Given the description of an element on the screen output the (x, y) to click on. 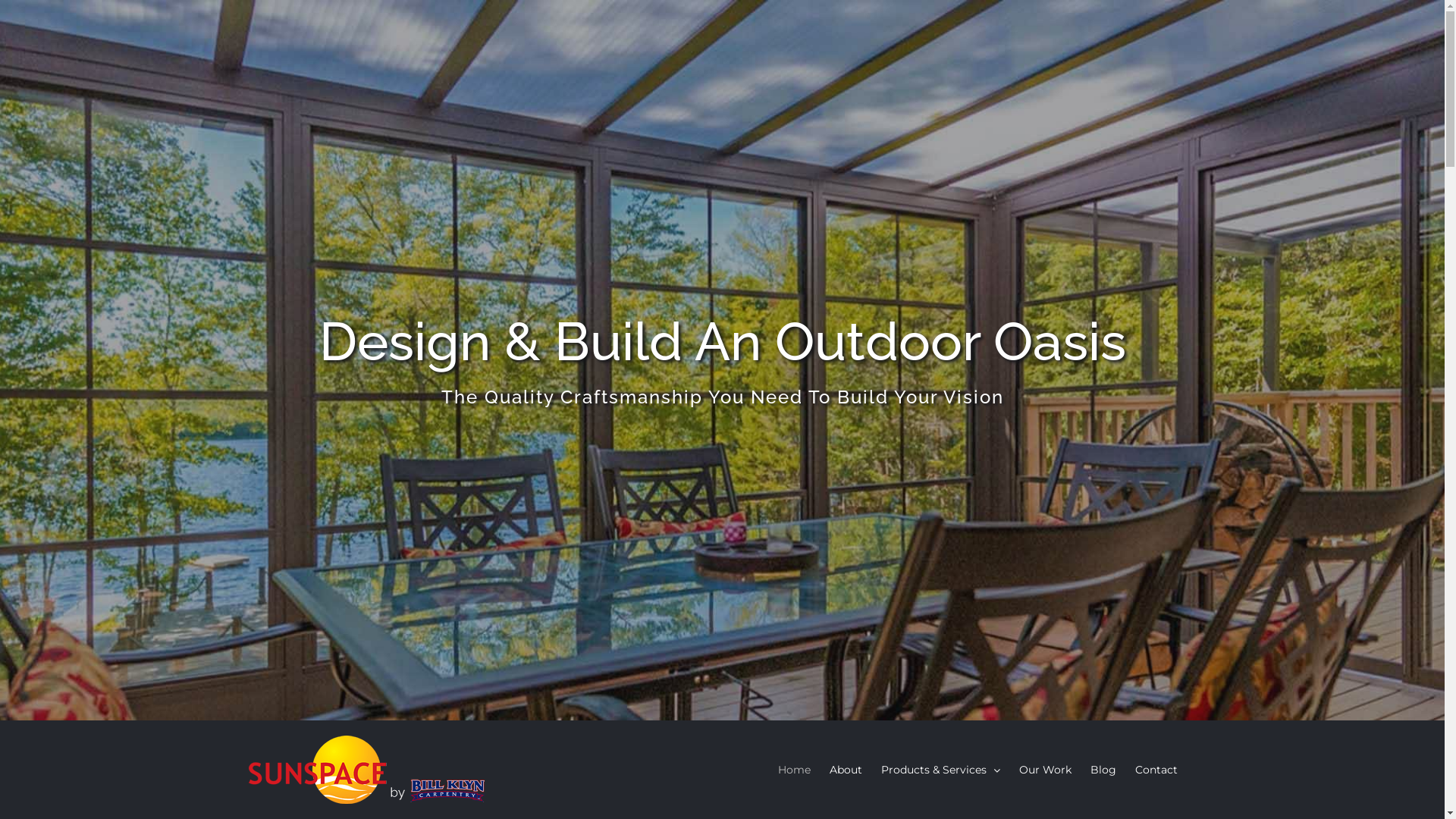
Our Work Element type: text (1045, 769)
Home Element type: text (794, 769)
Blog Element type: text (1103, 769)
Contact Element type: text (1155, 769)
About Element type: text (845, 769)
Products & Services Element type: text (940, 769)
